Given the description of an element on the screen output the (x, y) to click on. 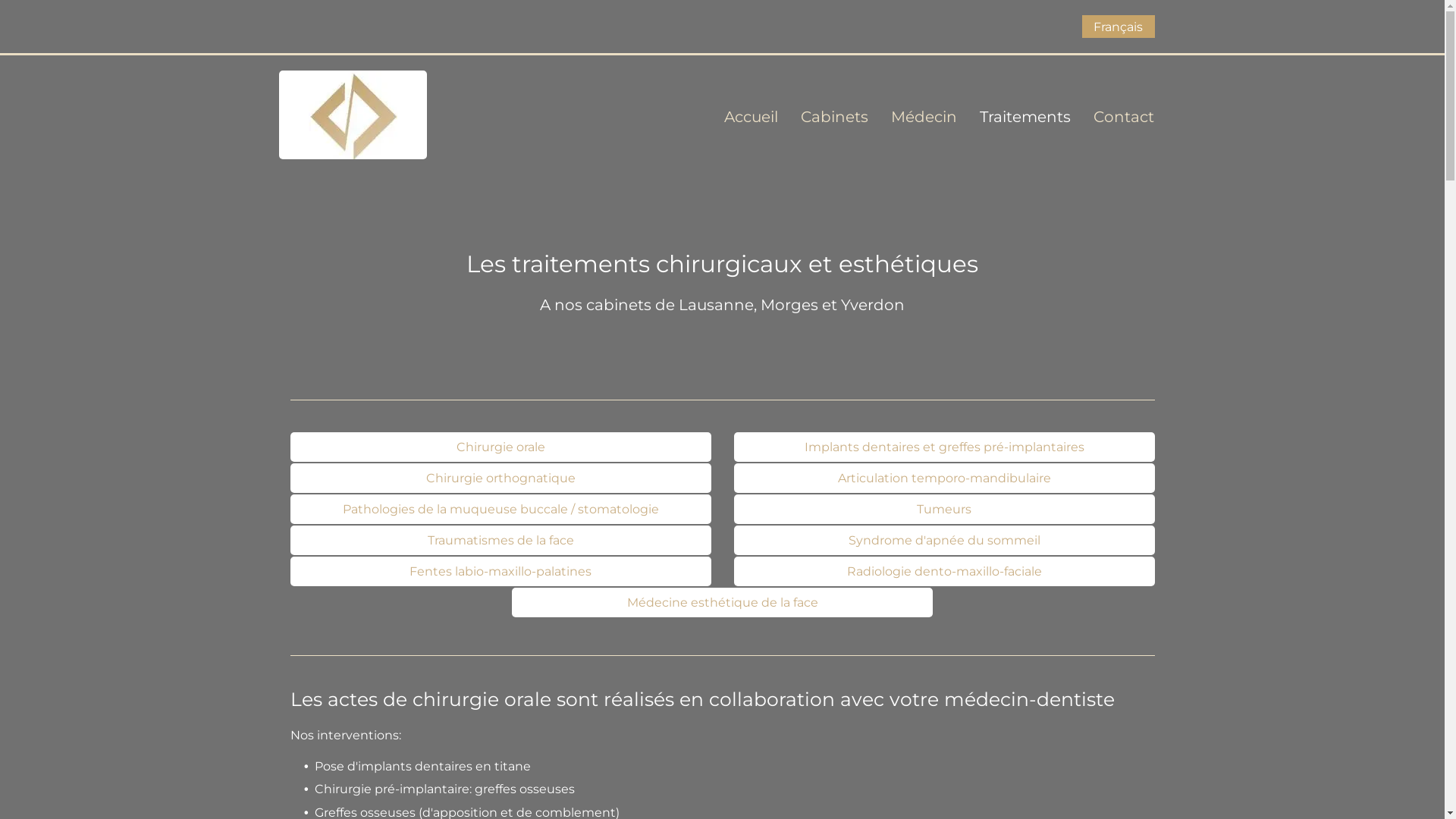
Traumatismes de la face Element type: text (499, 540)
Contact Element type: text (1112, 116)
Pathologies de la muqueuse buccale / stomatologie Element type: text (499, 509)
Cabinets Element type: text (823, 116)
Radiologie dento-maxillo-faciale Element type: text (944, 571)
Traitements Element type: text (1013, 116)
Chirurgie orthognatique Element type: text (499, 477)
Accueil Element type: text (739, 116)
Fentes labio-maxillo-palatines Element type: text (499, 571)
Articulation temporo-mandibulaire Element type: text (944, 477)
Tumeurs Element type: text (944, 509)
Chirurgie orale Element type: text (499, 446)
